Given the description of an element on the screen output the (x, y) to click on. 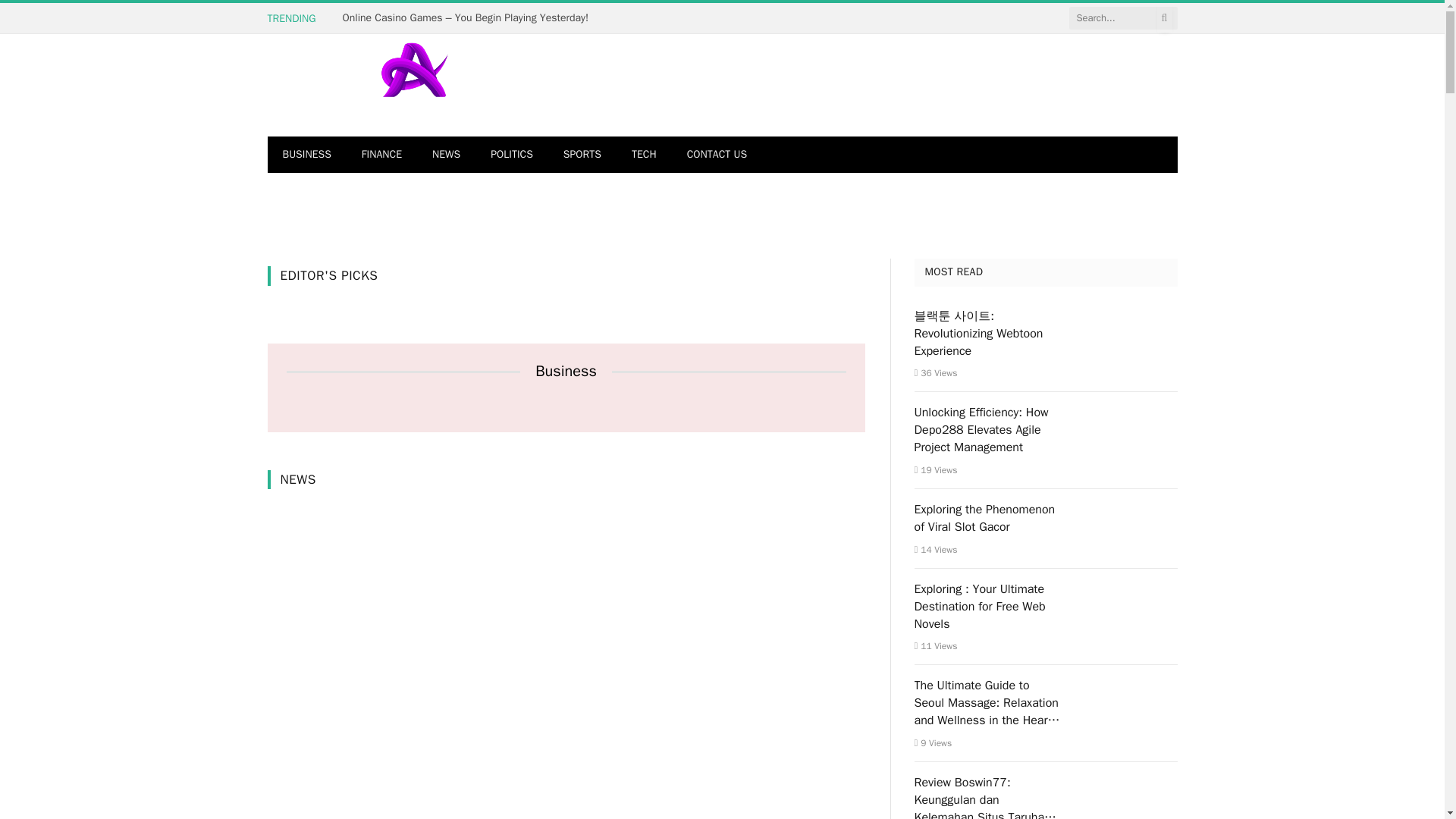
Association (414, 85)
POLITICS (512, 154)
19 Article Views (936, 469)
Exploring the Phenomenon of Viral Slot Gacor (987, 518)
CONTACT US (716, 154)
Exploring : Your Ultimate Destination for Free Web Novels (987, 606)
9 Article Views (933, 743)
14 Article Views (936, 549)
